Given the description of an element on the screen output the (x, y) to click on. 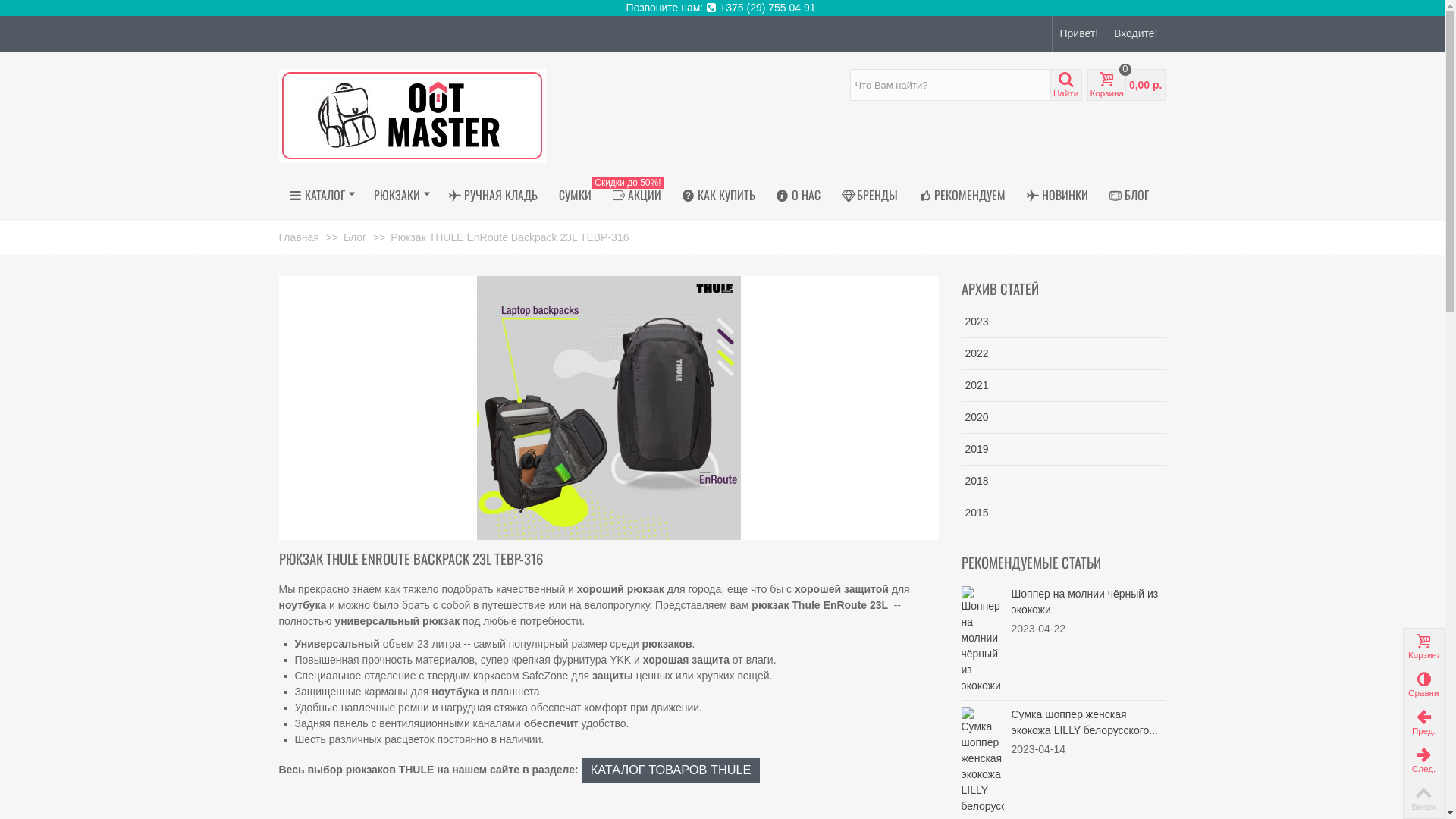
2018 Element type: text (1063, 480)
2019 Element type: text (1063, 448)
OutMaster Element type: hover (412, 115)
2022 Element type: text (1063, 353)
2015 Element type: text (1063, 512)
2023 Element type: text (1063, 321)
2020 Element type: text (1063, 417)
2021 Element type: text (1063, 385)
